Given the description of an element on the screen output the (x, y) to click on. 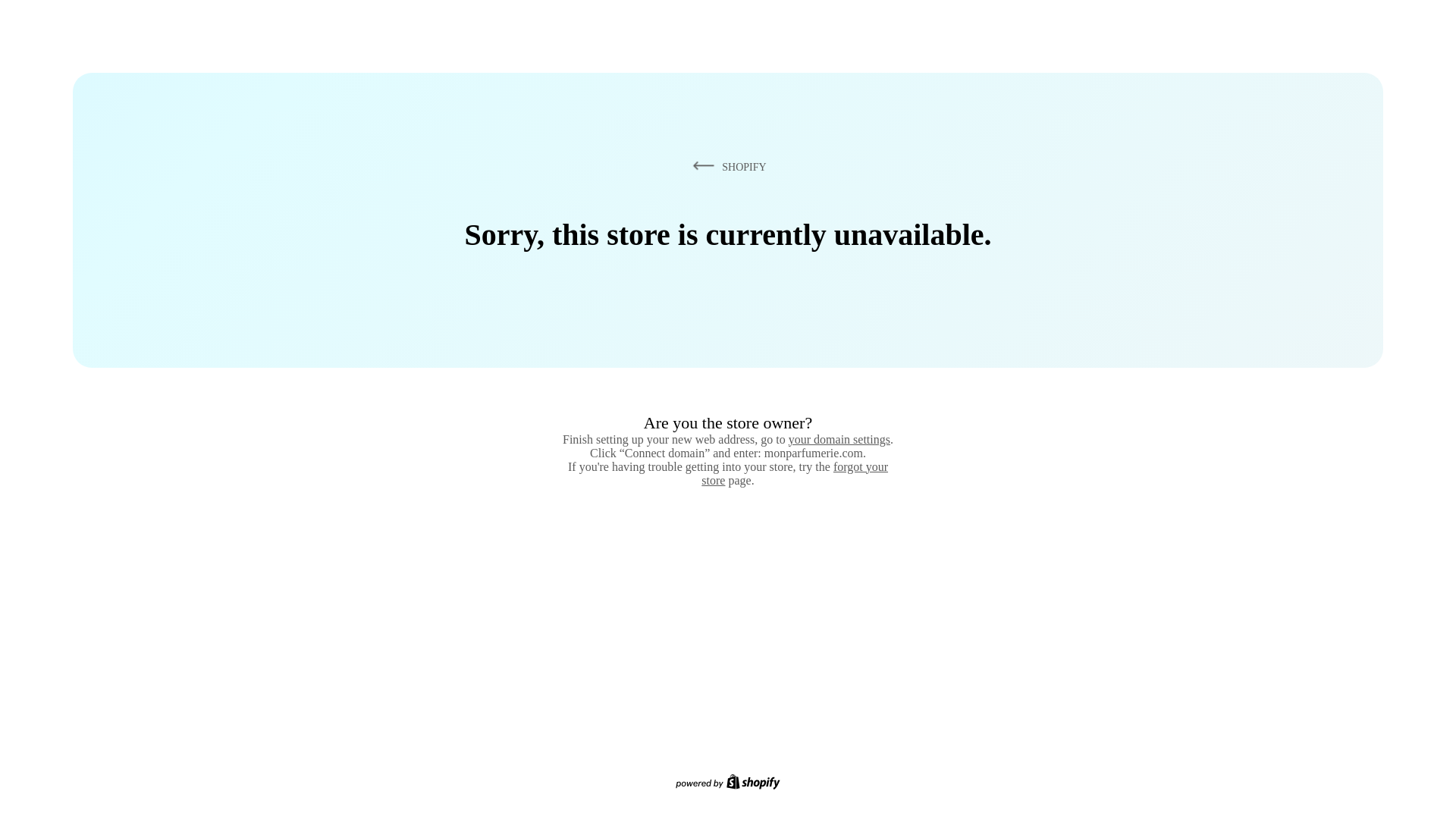
forgot your store (794, 473)
SHOPIFY (726, 166)
your domain settings (839, 439)
